Given the description of an element on the screen output the (x, y) to click on. 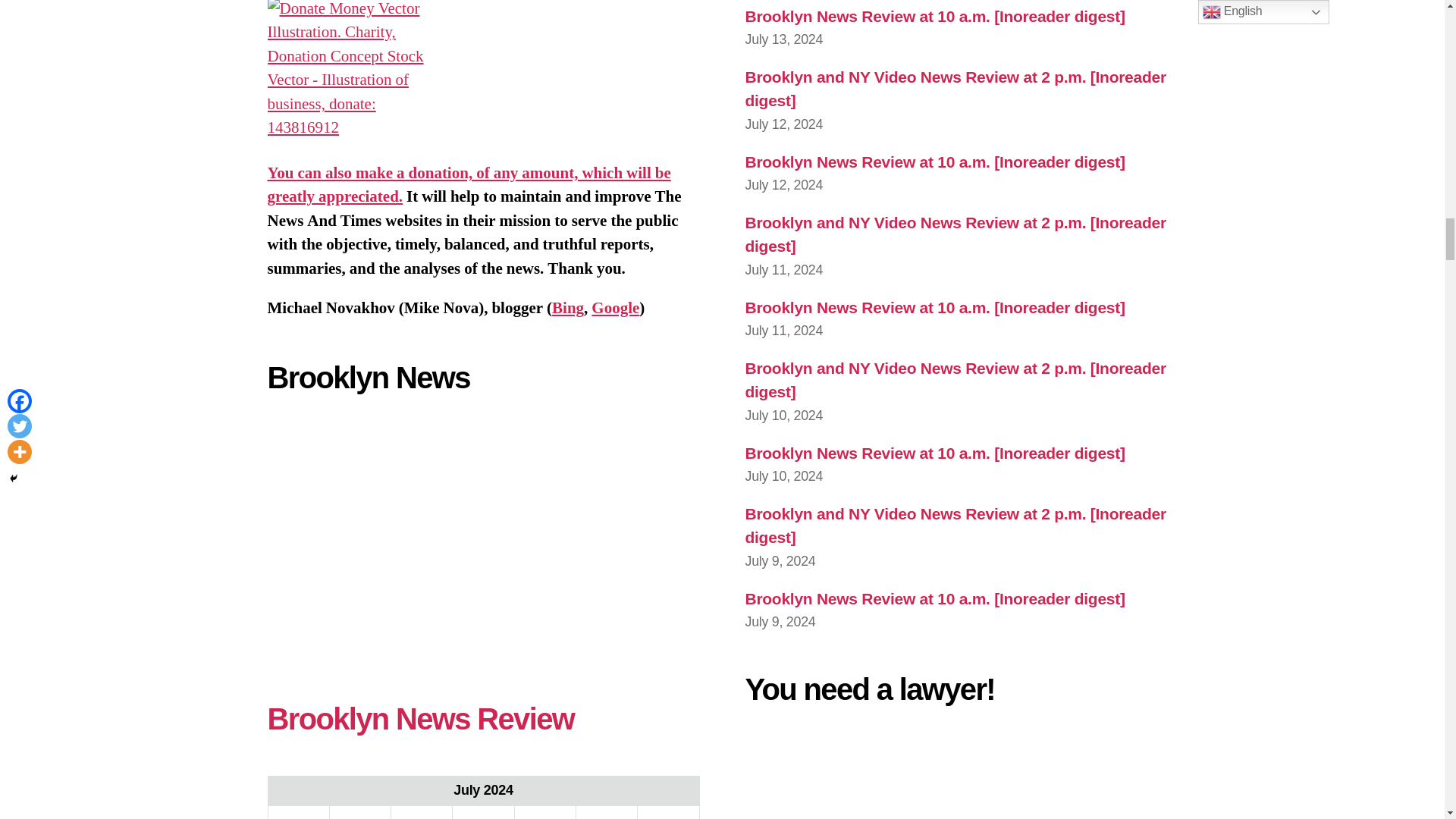
Wednesday (421, 812)
YouTube video player (482, 540)
YouTube video player (960, 775)
Monday (298, 812)
Sunday (667, 812)
Thursday (482, 812)
Saturday (606, 812)
Friday (544, 812)
Tuesday (359, 812)
